Given the description of an element on the screen output the (x, y) to click on. 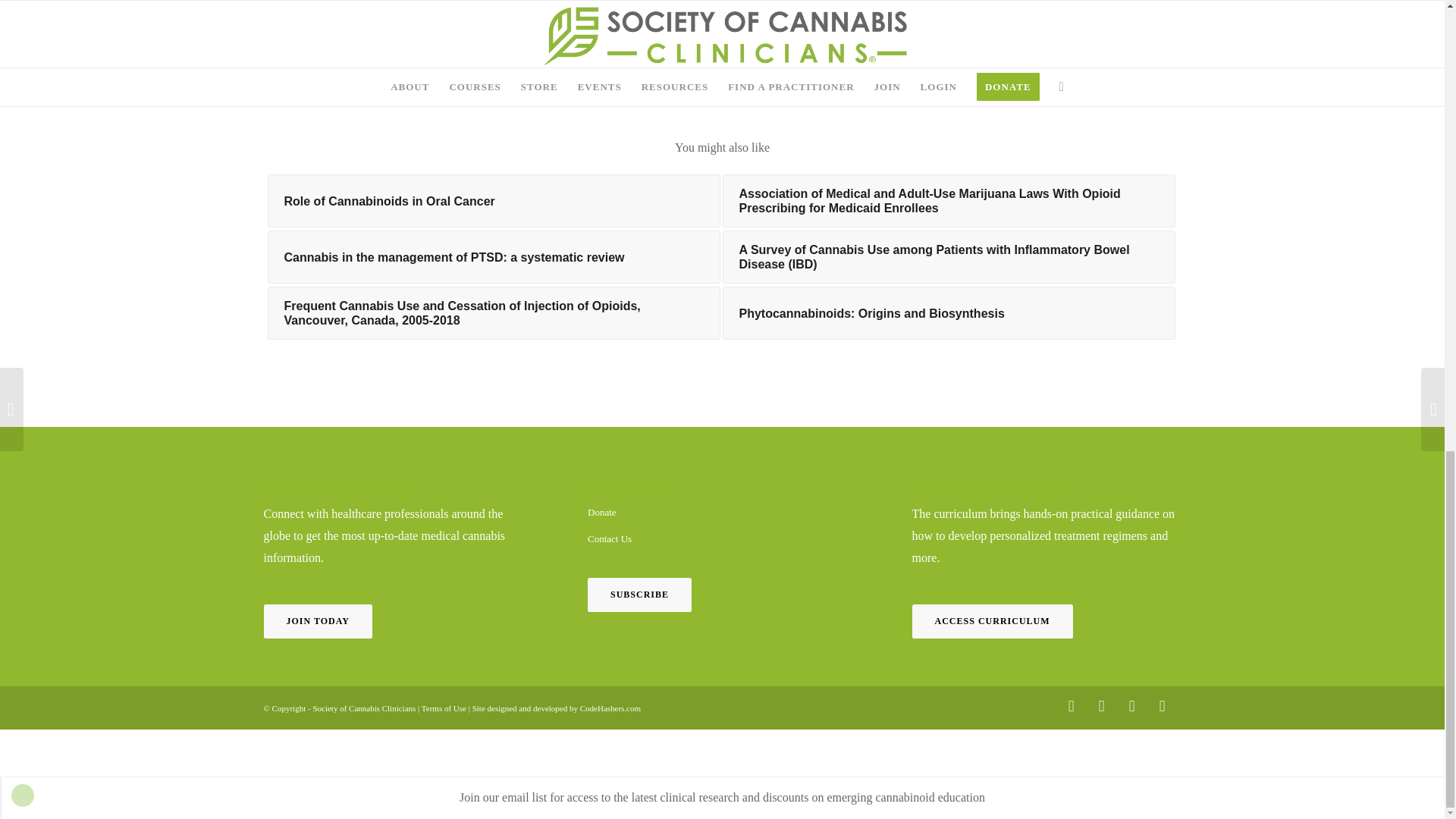
Role of Cannabinoids in Oral Cancer (492, 200)
Cannabis in the management of PTSD: a systematic review (492, 256)
